Given the description of an element on the screen output the (x, y) to click on. 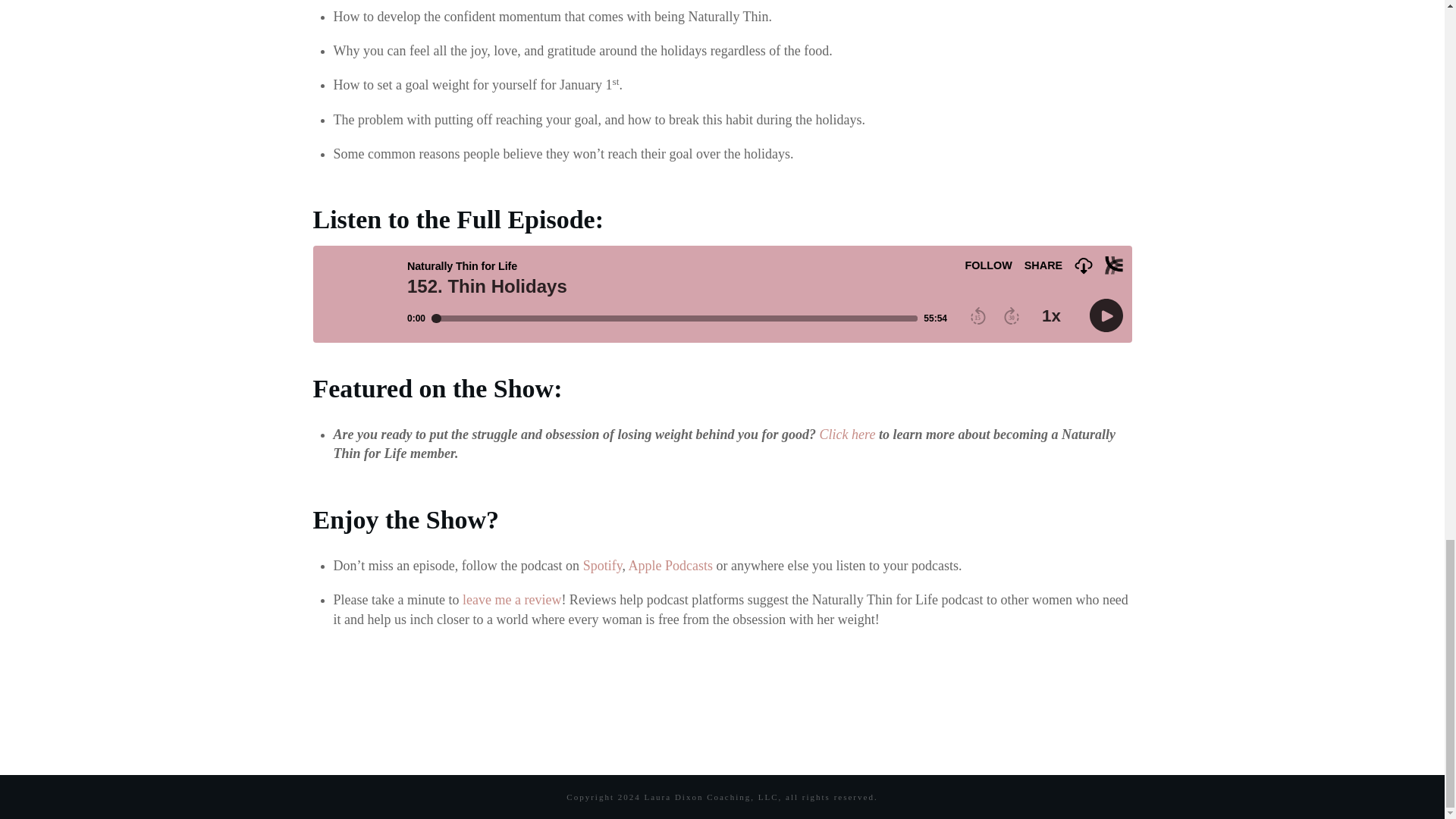
Embed Player (722, 294)
Click here (847, 434)
Apple Podcasts (670, 565)
Click here (847, 434)
Spotify (603, 565)
leave me a review (511, 599)
